Given the description of an element on the screen output the (x, y) to click on. 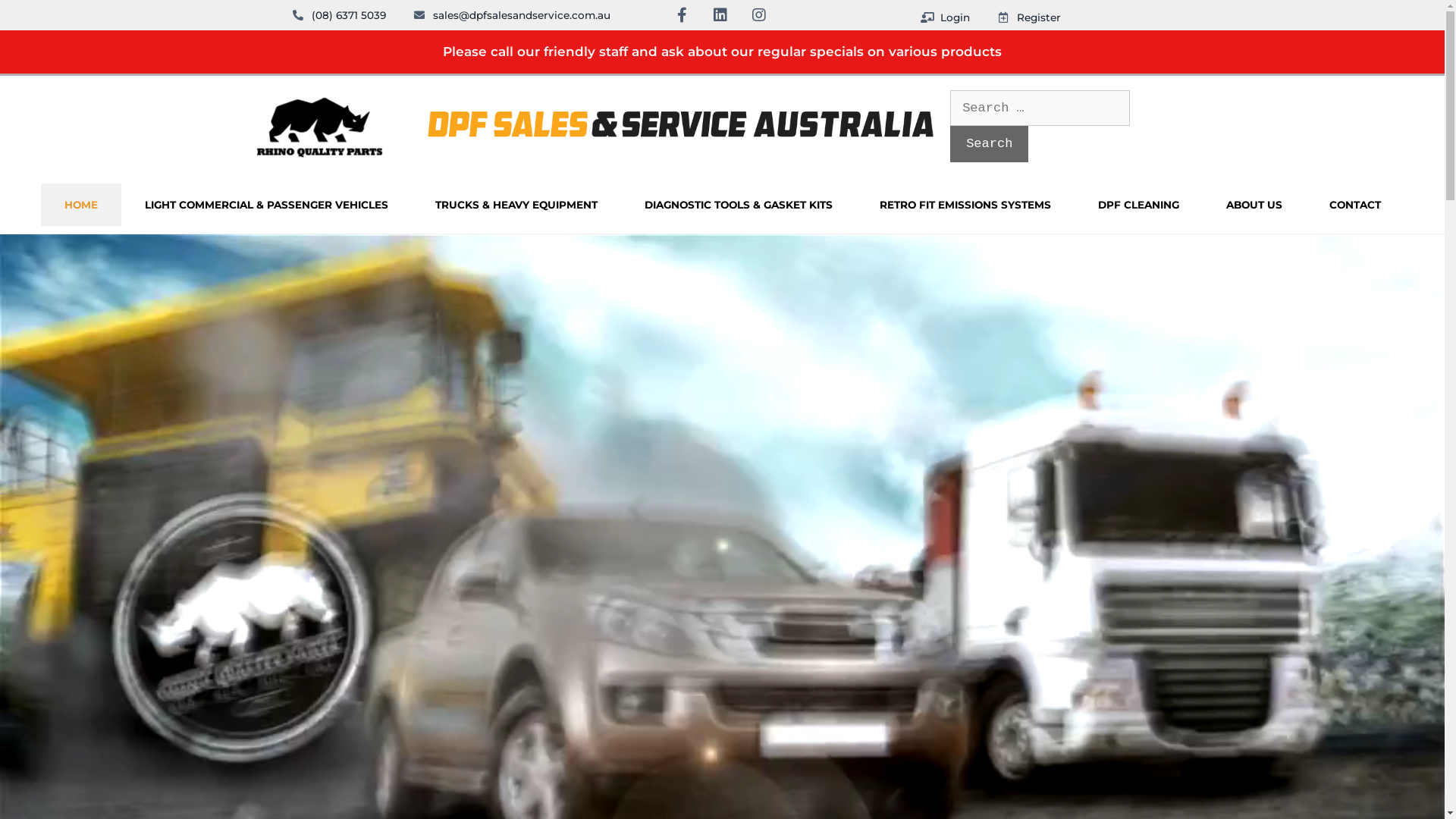
TRUCKS & HEAVY EQUIPMENT Element type: text (515, 204)
LIGHT COMMERCIAL & PASSENGER VEHICLES Element type: text (266, 204)
ABOUT US Element type: text (1253, 204)
CONTACT Element type: text (1354, 204)
HOME Element type: text (80, 204)
Search Element type: text (989, 143)
Search for: Element type: hover (1039, 108)
(08) 6371 5039 Element type: text (338, 15)
DPF CLEANING Element type: text (1137, 204)
Login Element type: text (945, 17)
Register Element type: text (1028, 17)
sales@dpfsalesandservice.com.au Element type: text (511, 15)
RETRO FIT EMISSIONS SYSTEMS Element type: text (964, 204)
DIAGNOSTIC TOOLS & GASKET KITS Element type: text (737, 204)
